Given the description of an element on the screen output the (x, y) to click on. 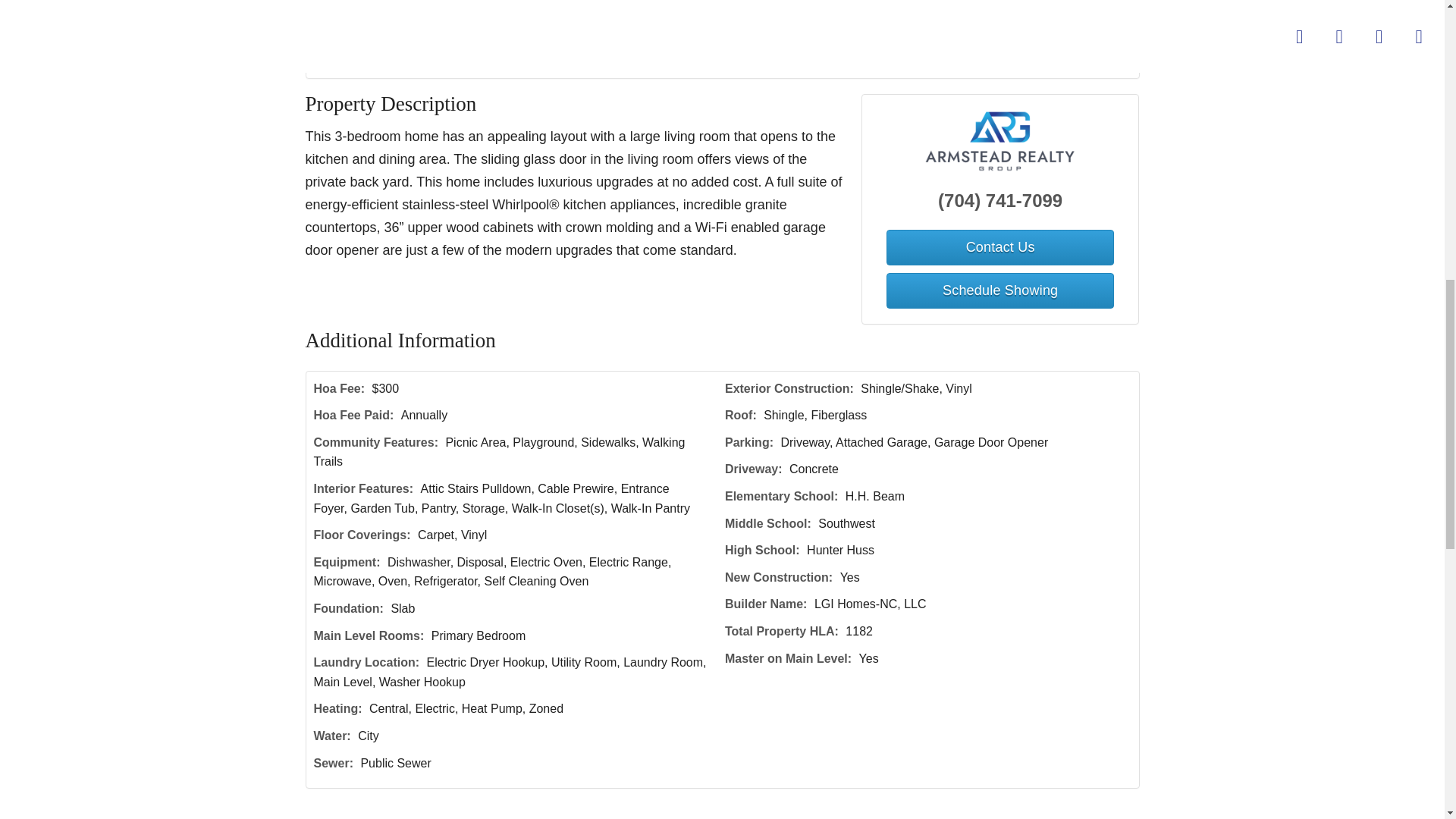
Share (603, 60)
Contact Us (999, 247)
Call Us (437, 60)
Contact Us (357, 60)
View on Map (521, 60)
New Search (1090, 60)
